Given the description of an element on the screen output the (x, y) to click on. 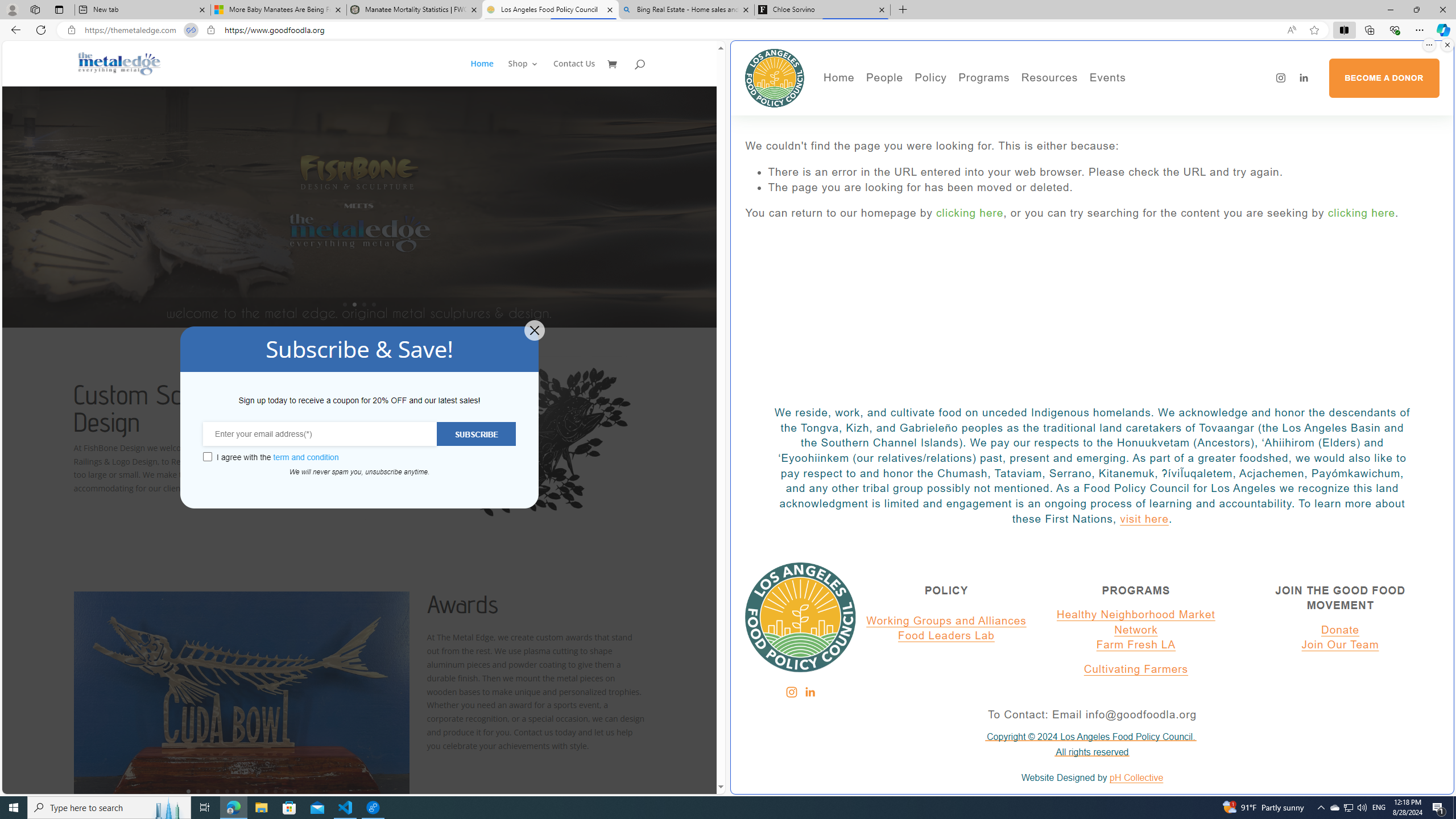
Los Angeles Food Policy Council (774, 77)
6 (236, 790)
More options. (1428, 45)
2 (198, 790)
Class: wcb-gdpr-checkbox (207, 456)
Join Our Team (1339, 645)
8 (255, 790)
Events (1146, 99)
clicking here (1361, 213)
SoCal Impact Food Fund (1093, 116)
Metal Fish Sculptures & Metal Designs (119, 63)
1 (188, 790)
Donate (1339, 630)
